Given the description of an element on the screen output the (x, y) to click on. 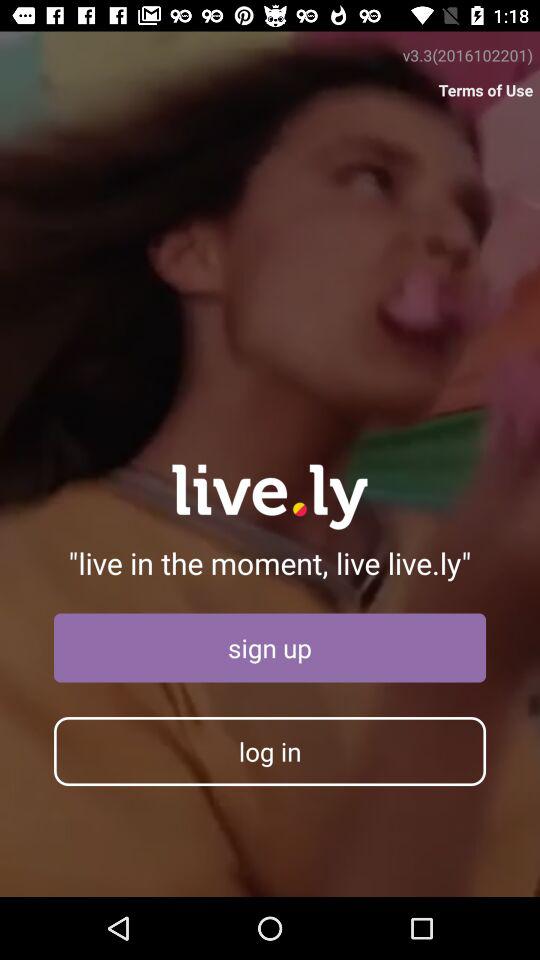
select app below the live in the icon (269, 647)
